Given the description of an element on the screen output the (x, y) to click on. 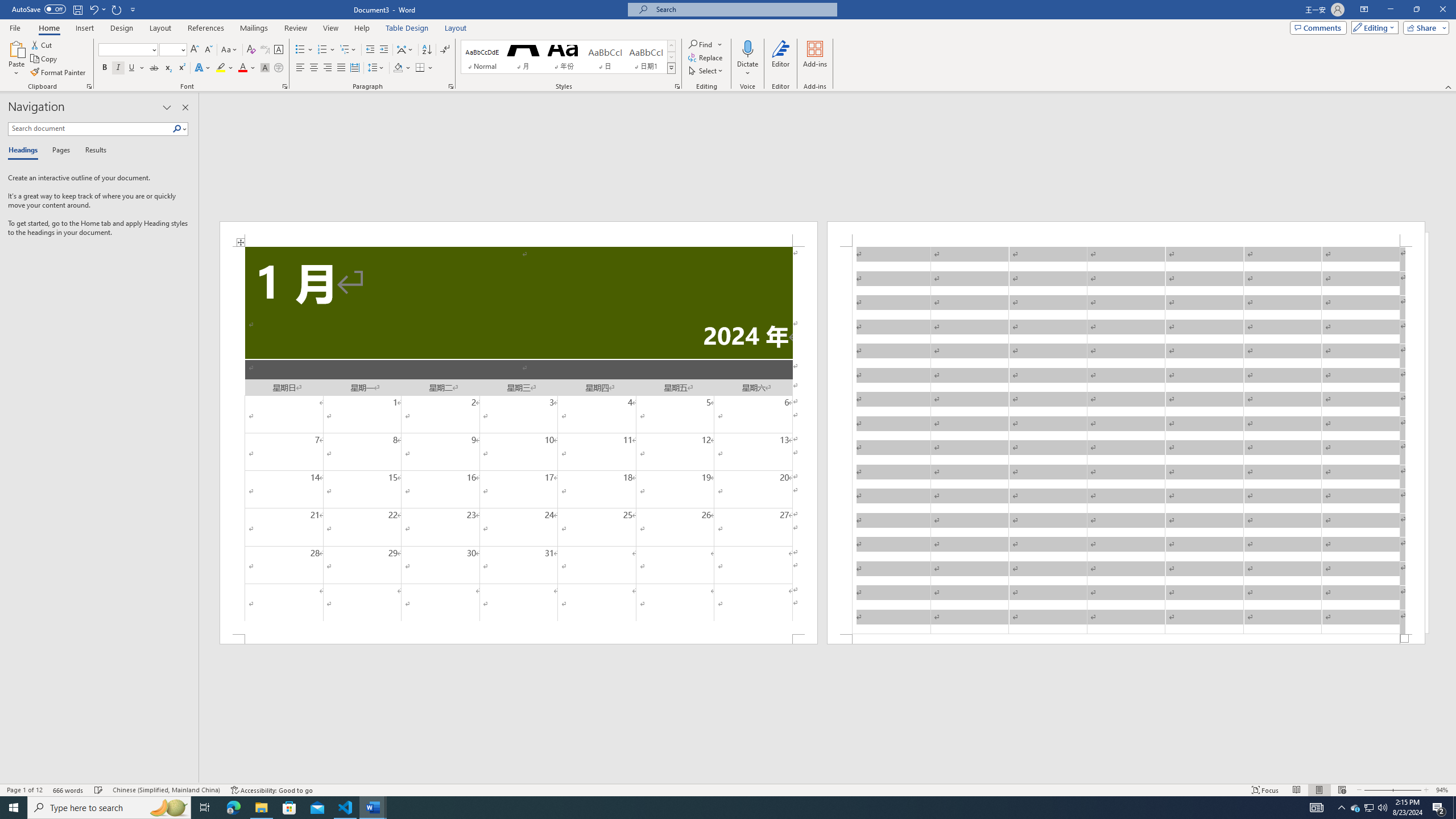
Select (705, 69)
Styles (670, 67)
Increase Indent (383, 49)
Subscript (167, 67)
Sort... (426, 49)
Line and Paragraph Spacing (376, 67)
